Given the description of an element on the screen output the (x, y) to click on. 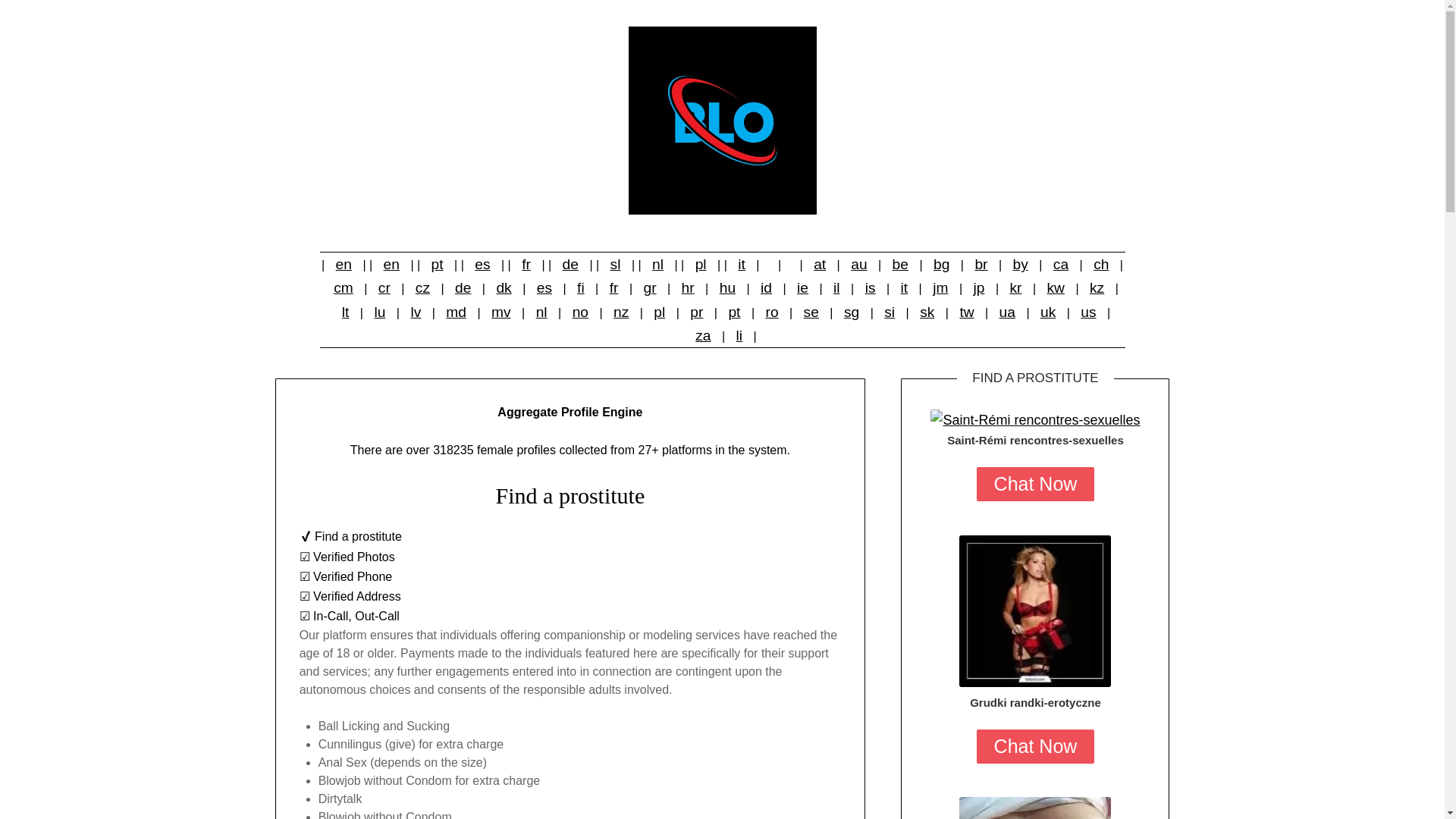
dk (502, 287)
hu (726, 287)
Meet (1034, 611)
de (462, 287)
br (980, 264)
cz (422, 287)
cm (343, 287)
Meet (1034, 807)
hr (687, 287)
be (900, 264)
bg (941, 264)
es (482, 264)
Meet (1035, 420)
en (391, 264)
ca (1060, 264)
